Given the description of an element on the screen output the (x, y) to click on. 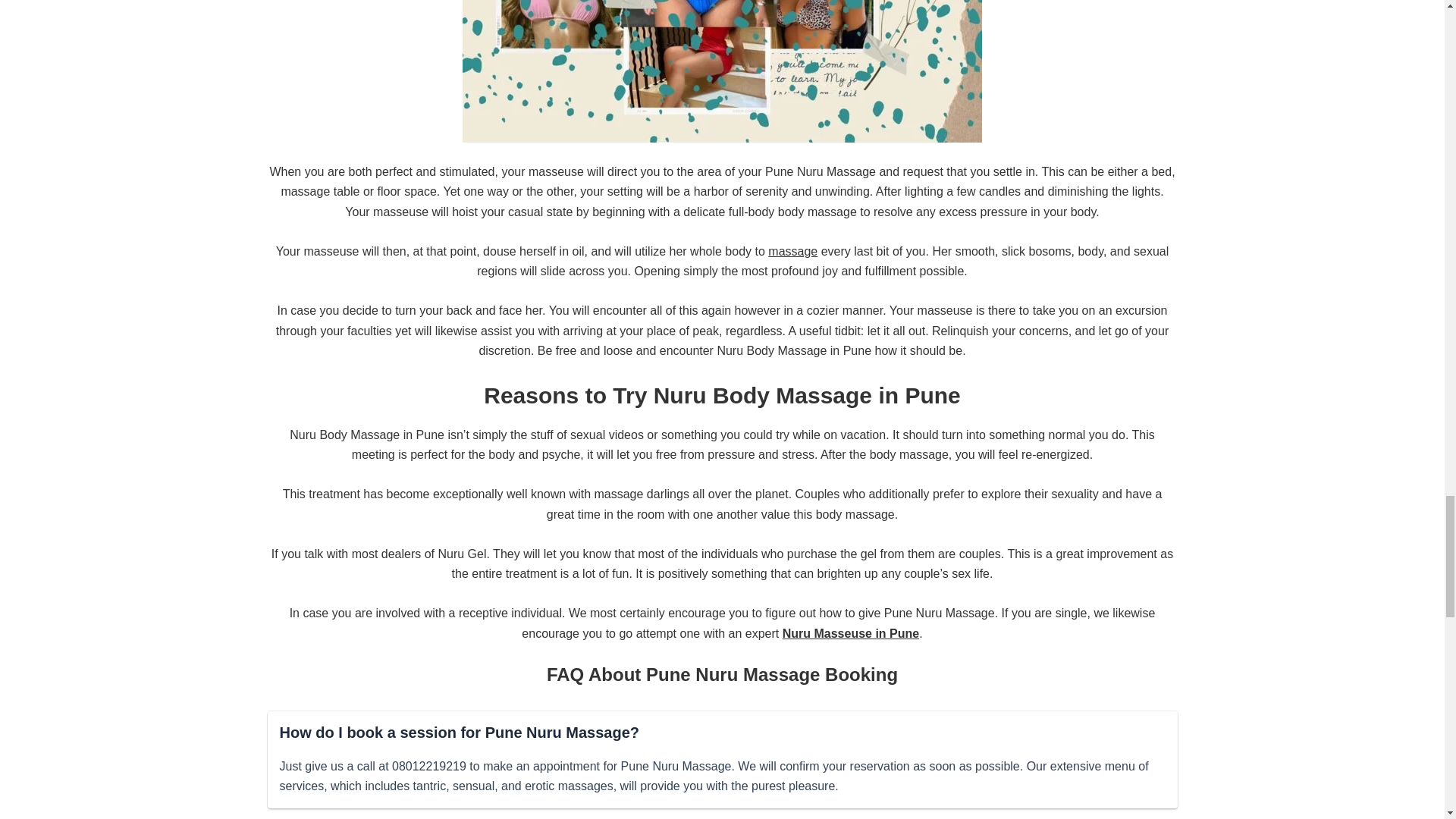
Nuru Masseuse in Pune (851, 632)
massage (792, 250)
